Given the description of an element on the screen output the (x, y) to click on. 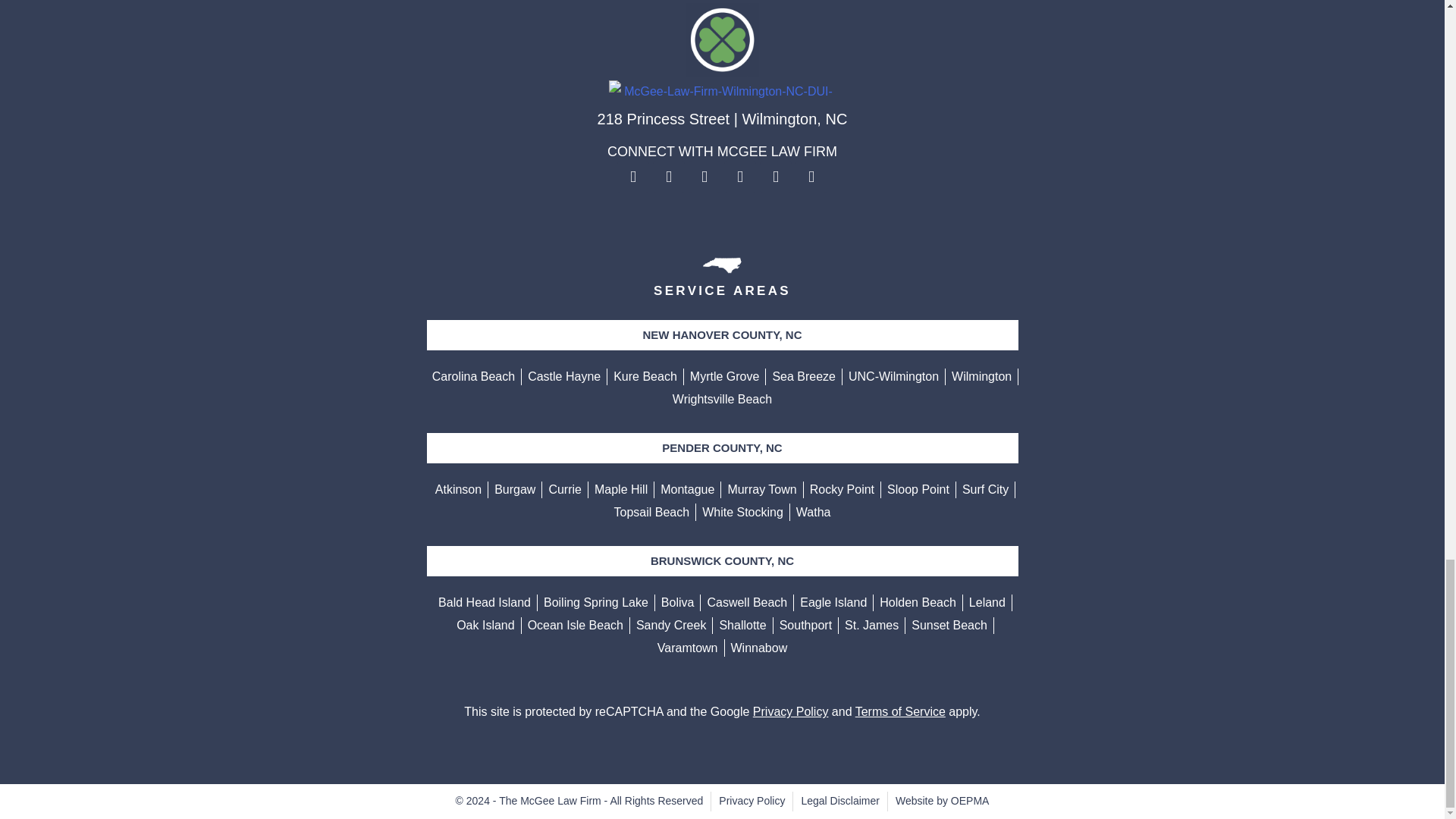
Facebook (633, 176)
Twitter (668, 176)
Youtube (704, 176)
